Given the description of an element on the screen output the (x, y) to click on. 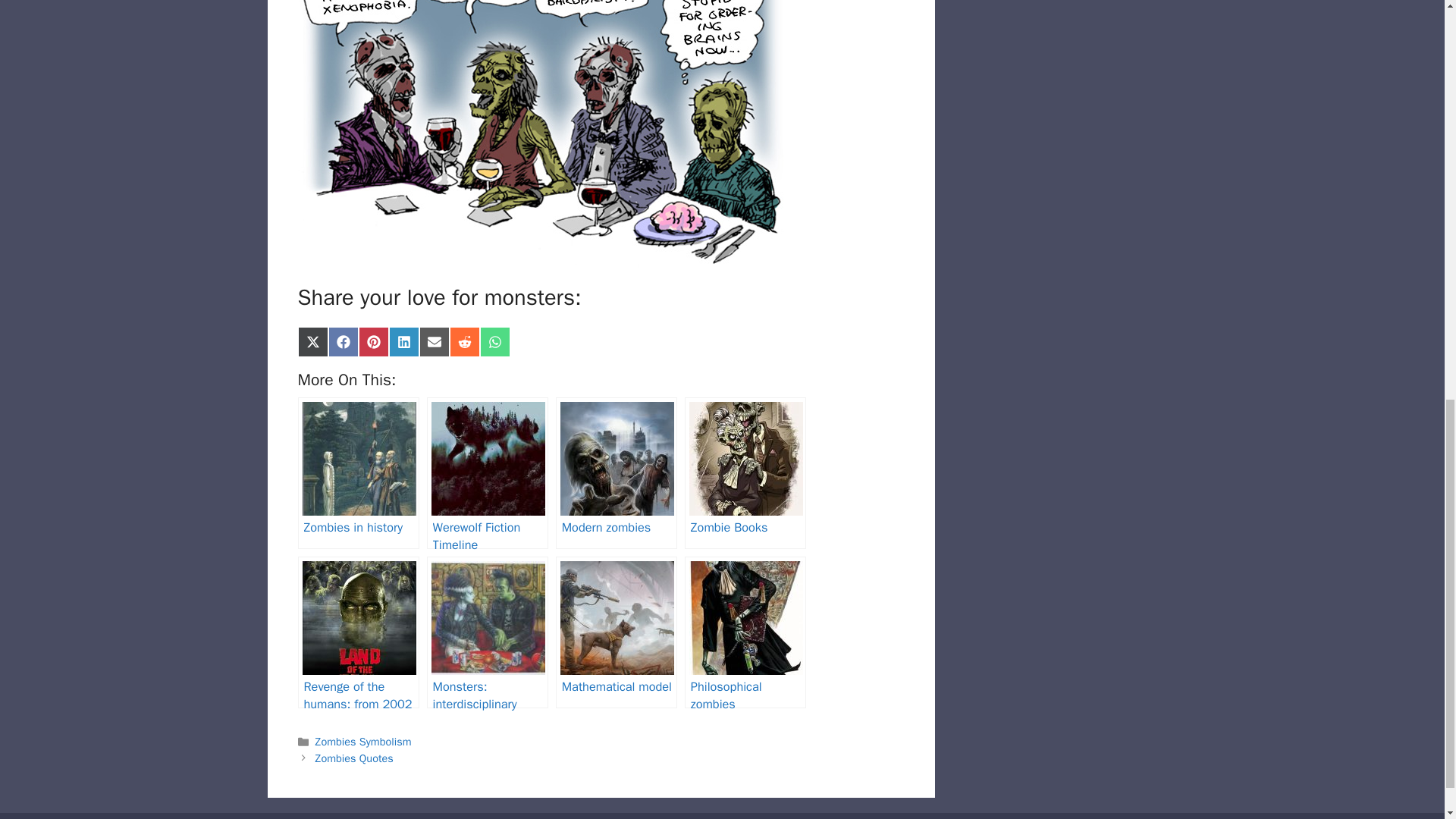
Advertisement (1062, 152)
Philosophical zombies (745, 632)
Share on Reddit (463, 341)
Share on WhatsApp (494, 341)
Werewolf Fiction Timeline (487, 472)
Share on Facebook (342, 341)
Zombies in history (358, 472)
Share on Email (433, 341)
Monsters: interdisciplinary explorations in monstrosity (487, 632)
Revenge of the humans: from 2002 (358, 632)
Zombies in history (358, 472)
Share on Pinterest (373, 341)
Modern zombies (616, 472)
Mathematical model (616, 632)
Share on LinkedIn (403, 341)
